Given the description of an element on the screen output the (x, y) to click on. 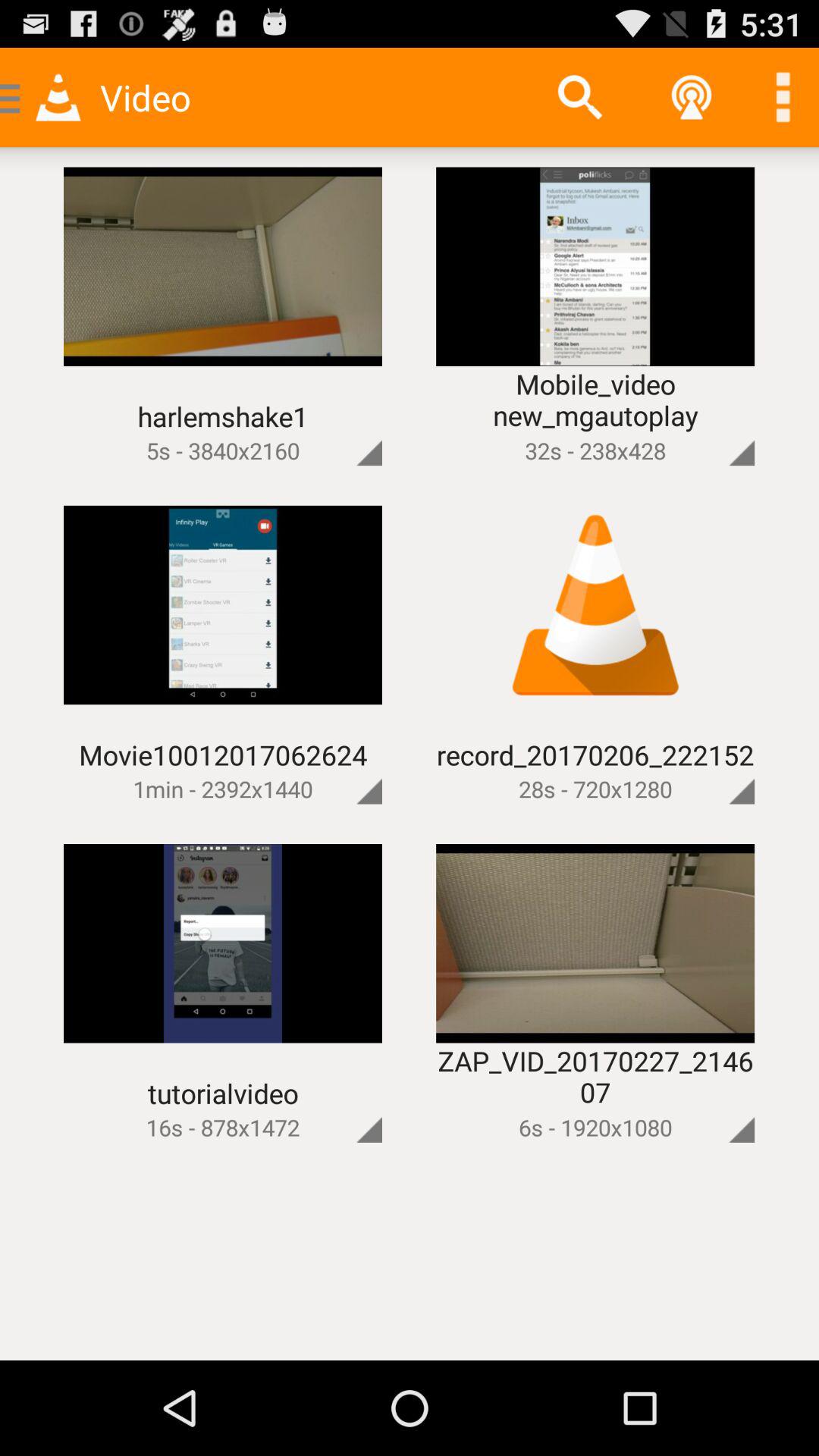
view more options (783, 97)
